Given the description of an element on the screen output the (x, y) to click on. 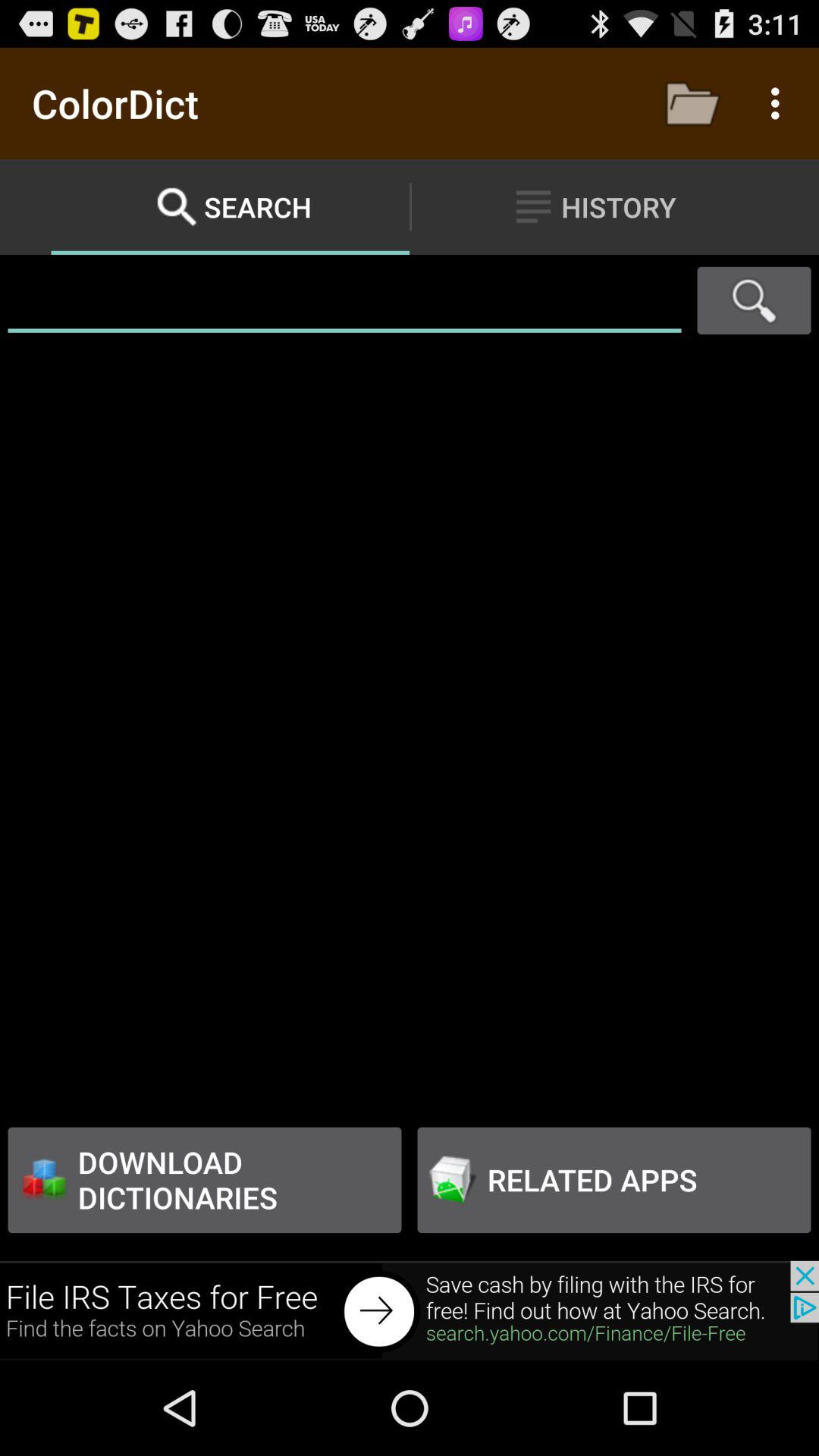
search (754, 300)
